Given the description of an element on the screen output the (x, y) to click on. 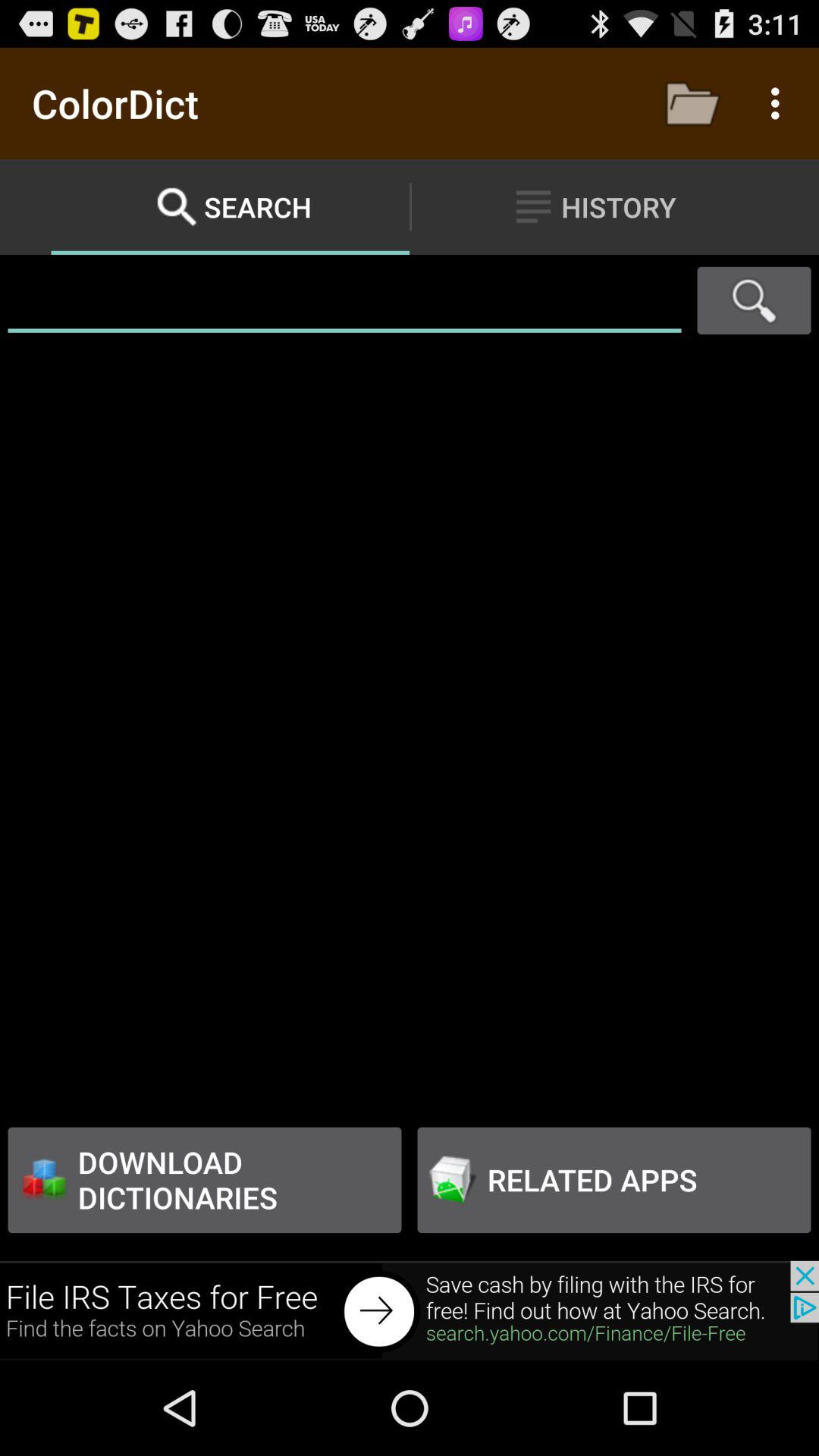
search (754, 300)
